Given the description of an element on the screen output the (x, y) to click on. 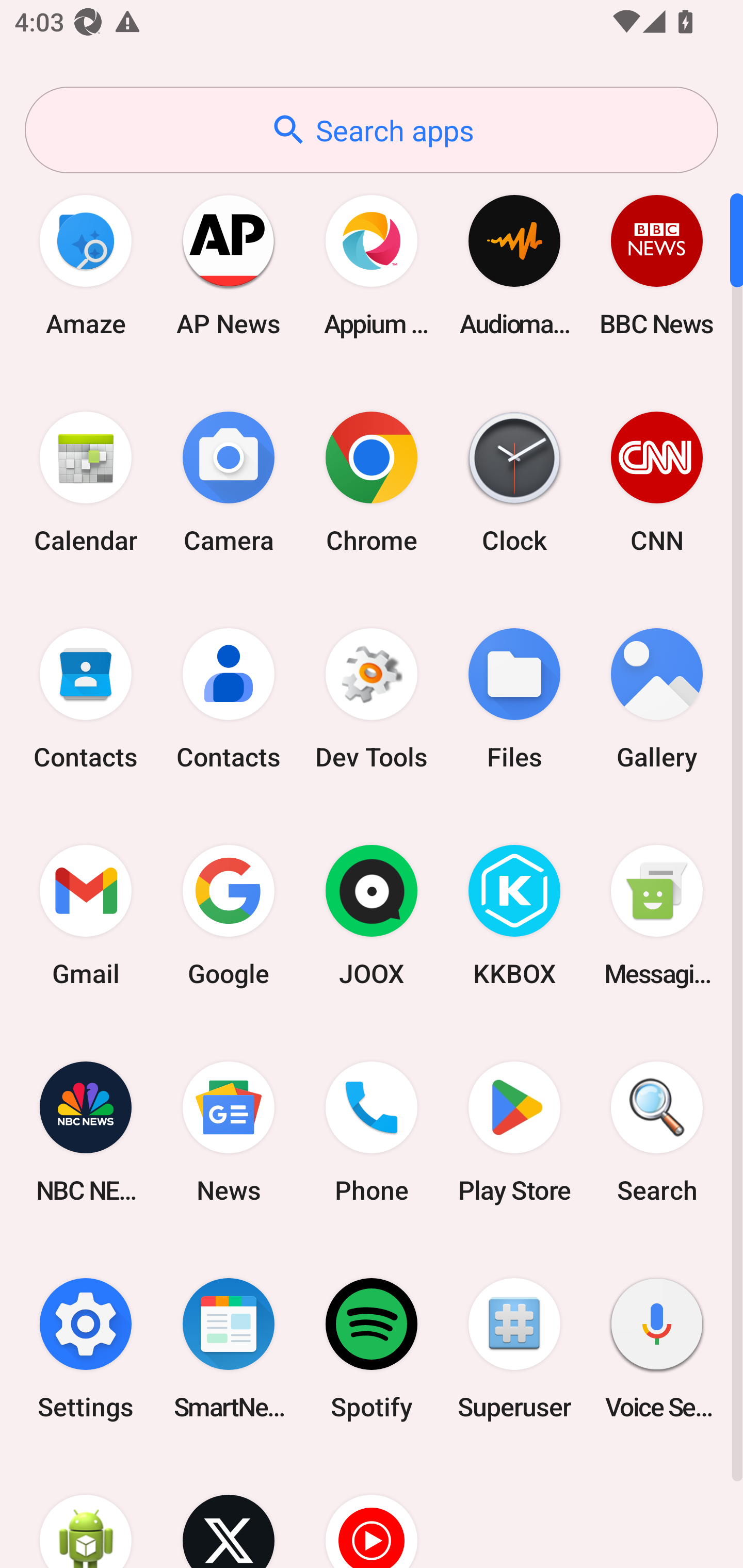
  Search apps (371, 130)
Amaze (85, 264)
AP News (228, 264)
Appium Settings (371, 264)
Audio­mack (514, 264)
BBC News (656, 264)
Calendar (85, 482)
Camera (228, 482)
Chrome (371, 482)
Clock (514, 482)
CNN (656, 482)
Contacts (85, 699)
Contacts (228, 699)
Dev Tools (371, 699)
Files (514, 699)
Gallery (656, 699)
Gmail (85, 915)
Google (228, 915)
JOOX (371, 915)
KKBOX (514, 915)
Messaging (656, 915)
NBC NEWS (85, 1131)
News (228, 1131)
Phone (371, 1131)
Play Store (514, 1131)
Search (656, 1131)
Settings (85, 1348)
SmartNews (228, 1348)
Spotify (371, 1348)
Superuser (514, 1348)
Voice Search (656, 1348)
WebView Browser Tester (85, 1512)
X (228, 1512)
YT Music (371, 1512)
